Given the description of an element on the screen output the (x, y) to click on. 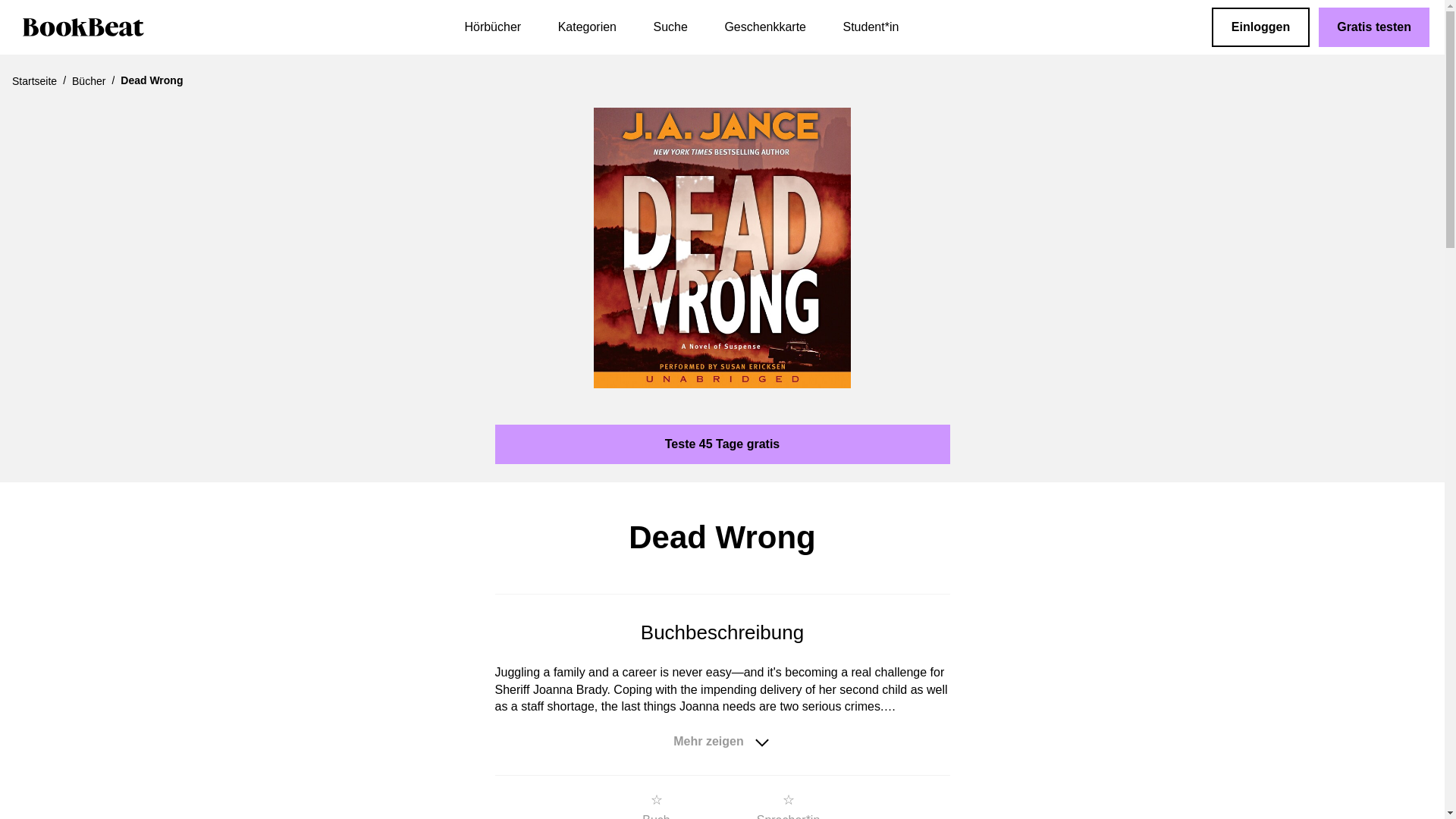
Startseite (33, 80)
Einloggen (1259, 26)
Teste 45 Tage gratis (722, 444)
Kategorien (586, 27)
Geschenkkarte (764, 27)
Mehr zeigen (722, 741)
Suche (670, 27)
Gratis testen (1374, 26)
Dead Wrong (722, 247)
